Given the description of an element on the screen output the (x, y) to click on. 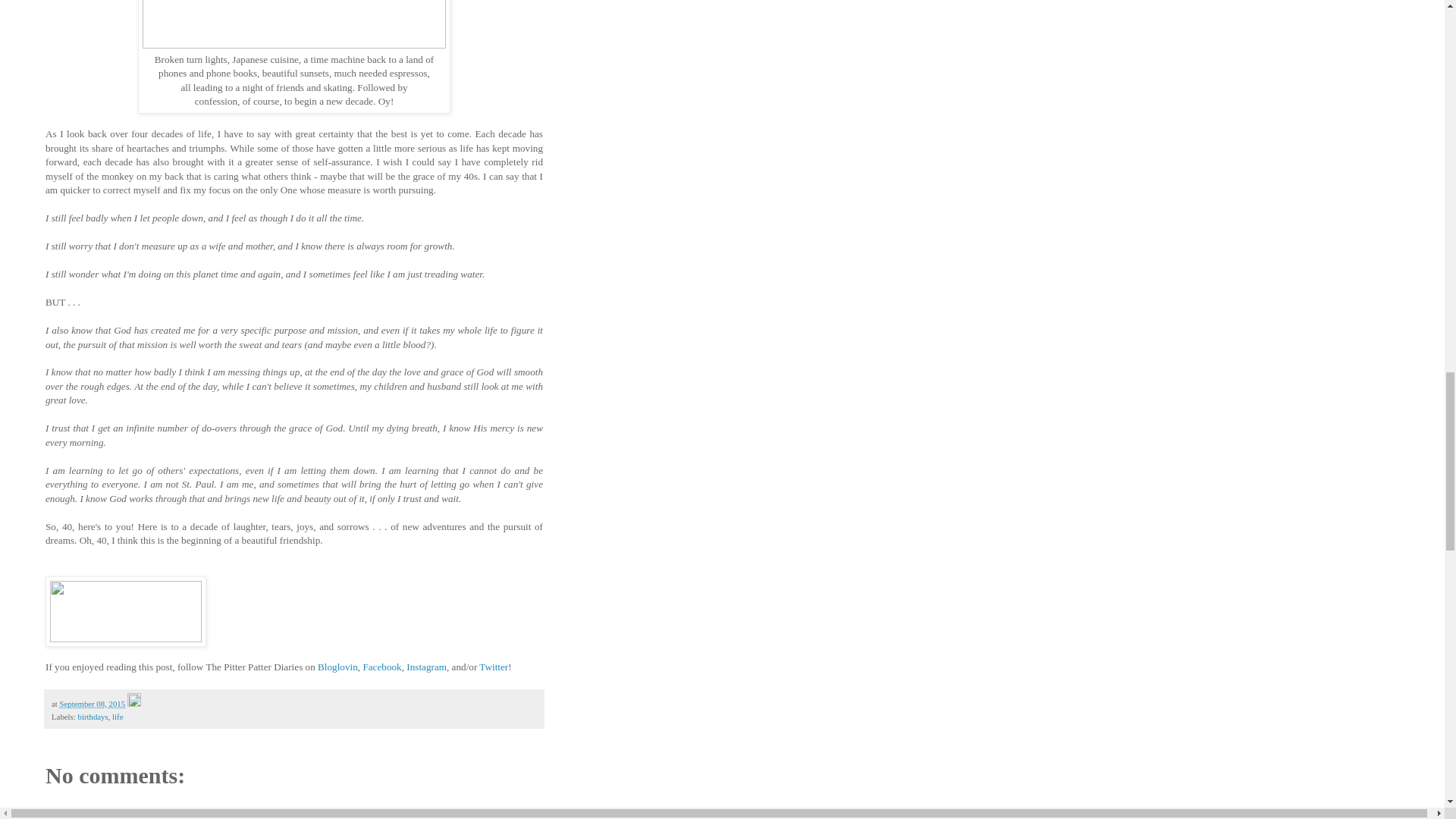
birthdays (92, 716)
Edit Post (134, 703)
life (117, 716)
Instagram (426, 666)
September 08, 2015 (92, 703)
Facebook (381, 666)
Bloglovin (337, 666)
Twitter (493, 666)
permanent link (92, 703)
